Given the description of an element on the screen output the (x, y) to click on. 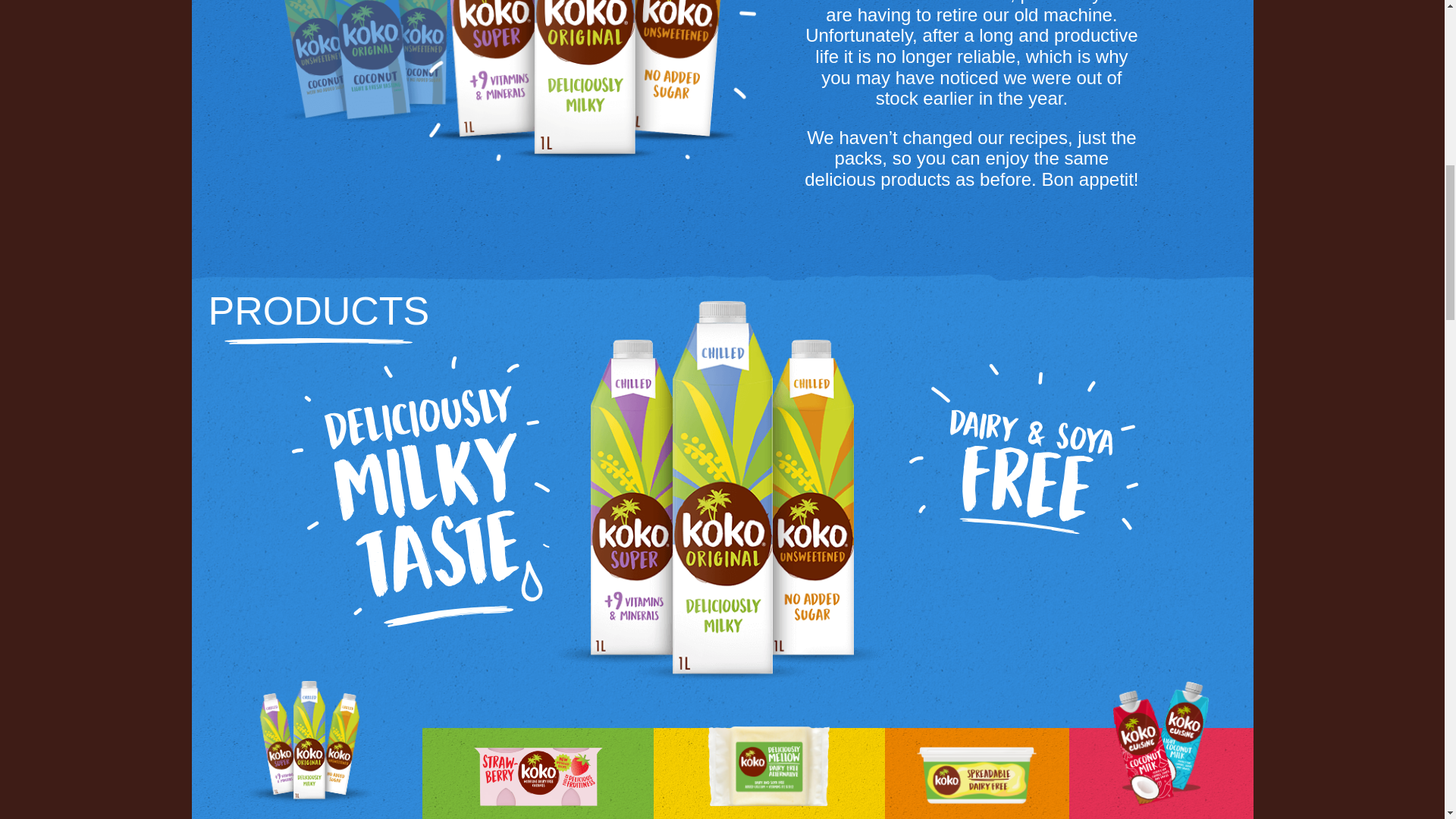
YOGURT ALTERNATIVES (537, 773)
SEE OUR RANGE (1023, 597)
CHEESE ALTERNATIVES (769, 773)
SPREAD (976, 773)
CUISINE COCONUT MILK (1160, 773)
MILK ALTERNATIVES (306, 773)
